Given the description of an element on the screen output the (x, y) to click on. 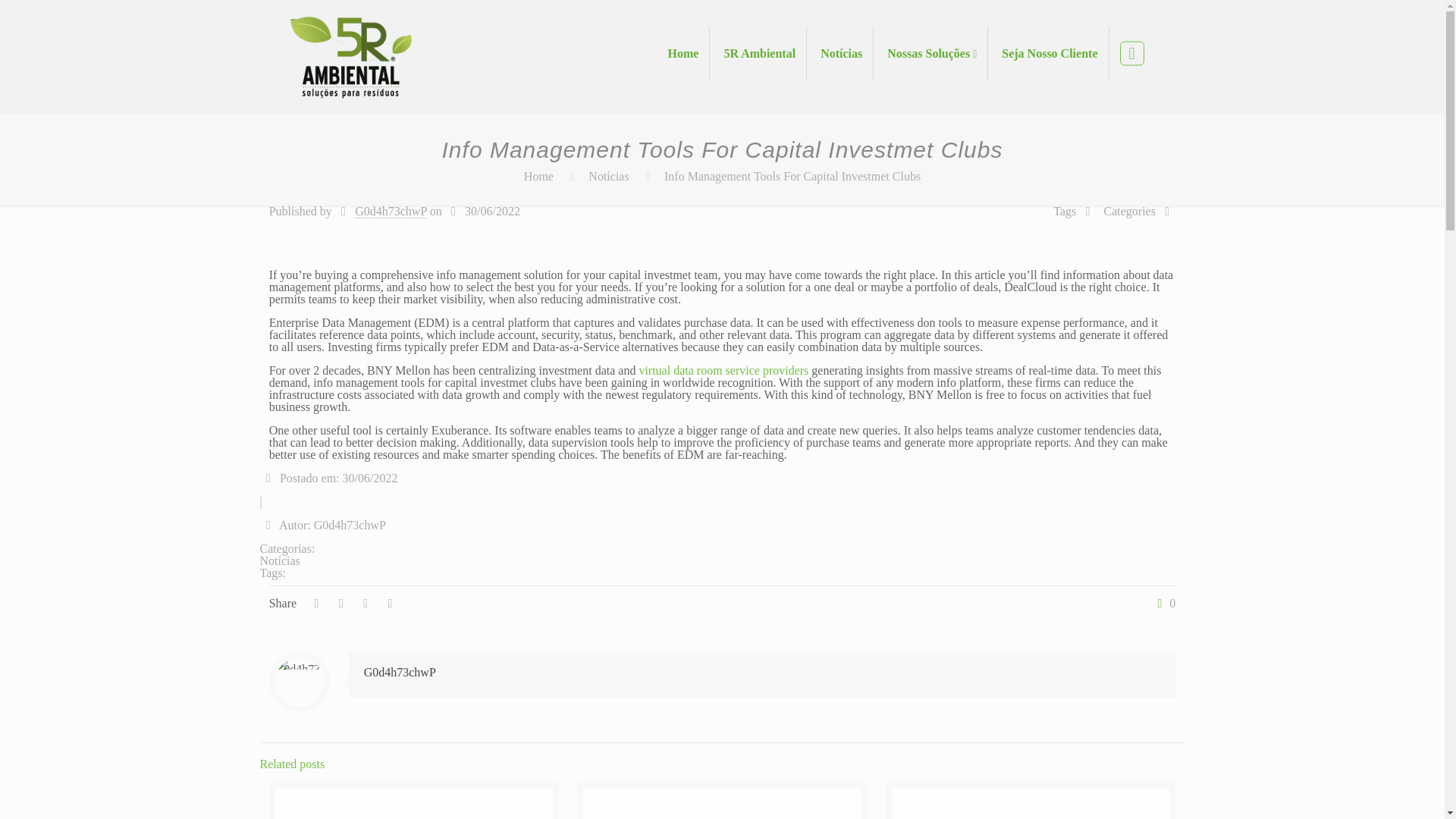
Home (684, 54)
5R Ambiental (759, 54)
Seja Nosso Cliente (1049, 54)
